Given the description of an element on the screen output the (x, y) to click on. 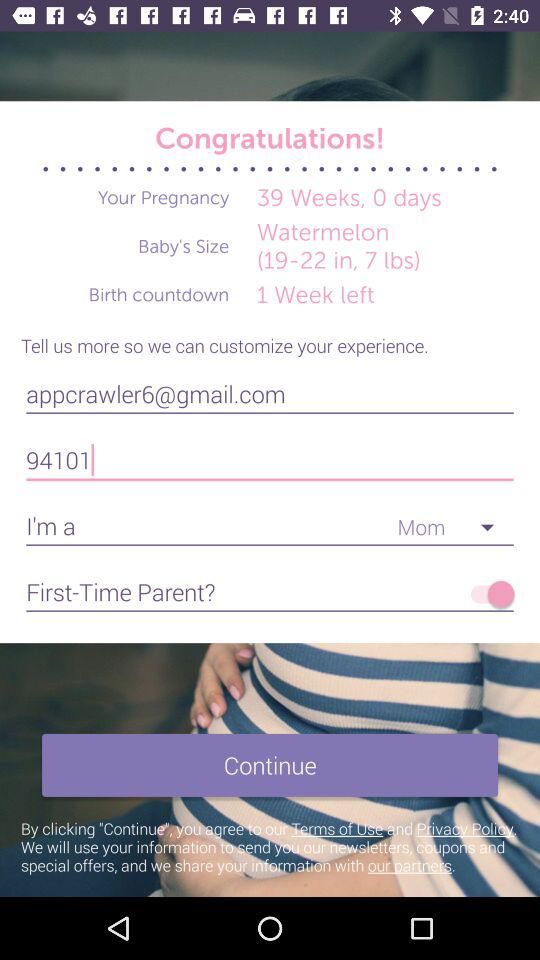
select the item below the i'm a (487, 593)
